Given the description of an element on the screen output the (x, y) to click on. 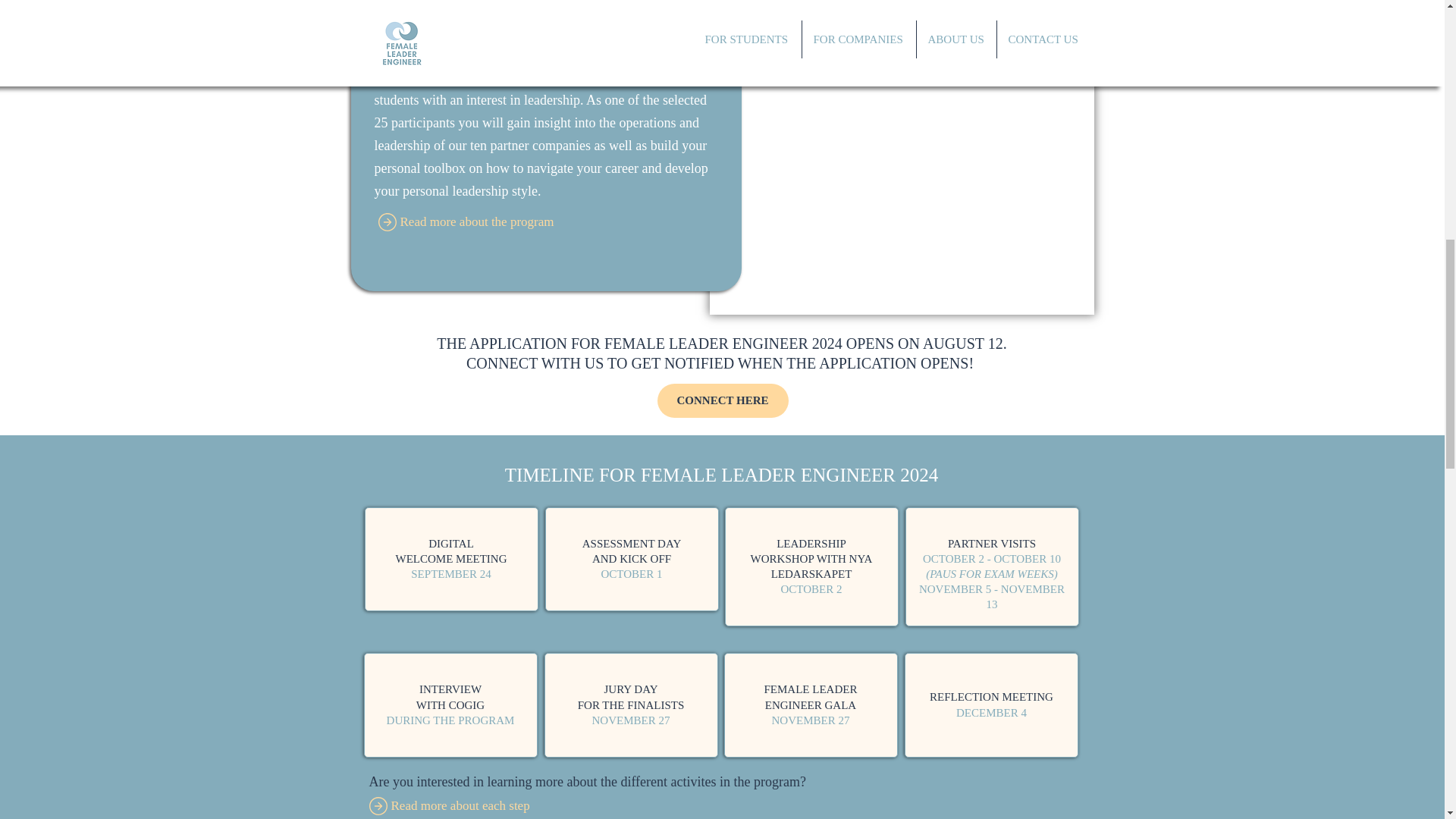
CONNECT HERE (721, 400)
Read more about the program (532, 221)
Read more about each step (523, 806)
